Given the description of an element on the screen output the (x, y) to click on. 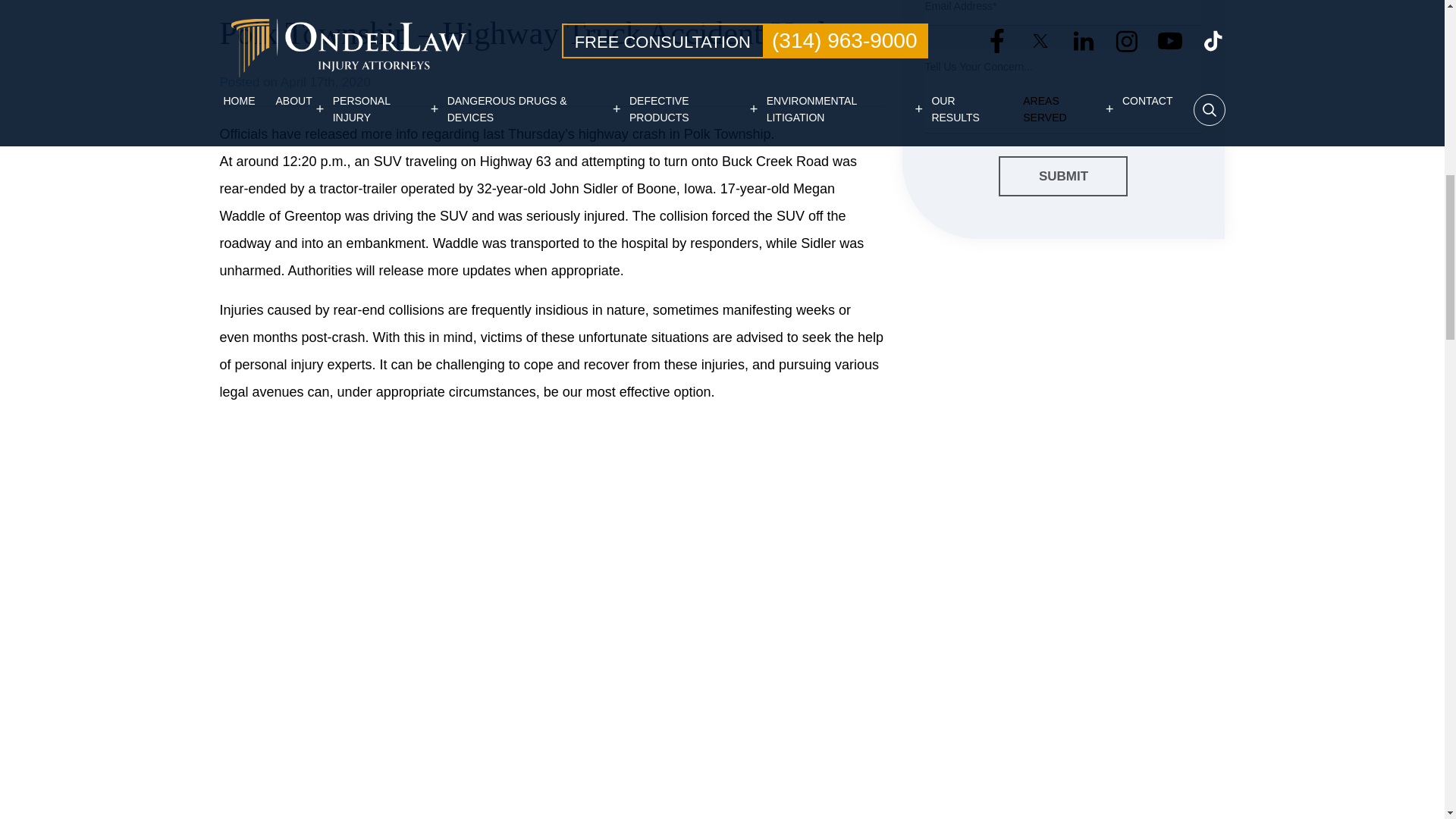
Submit (1062, 176)
